Given the description of an element on the screen output the (x, y) to click on. 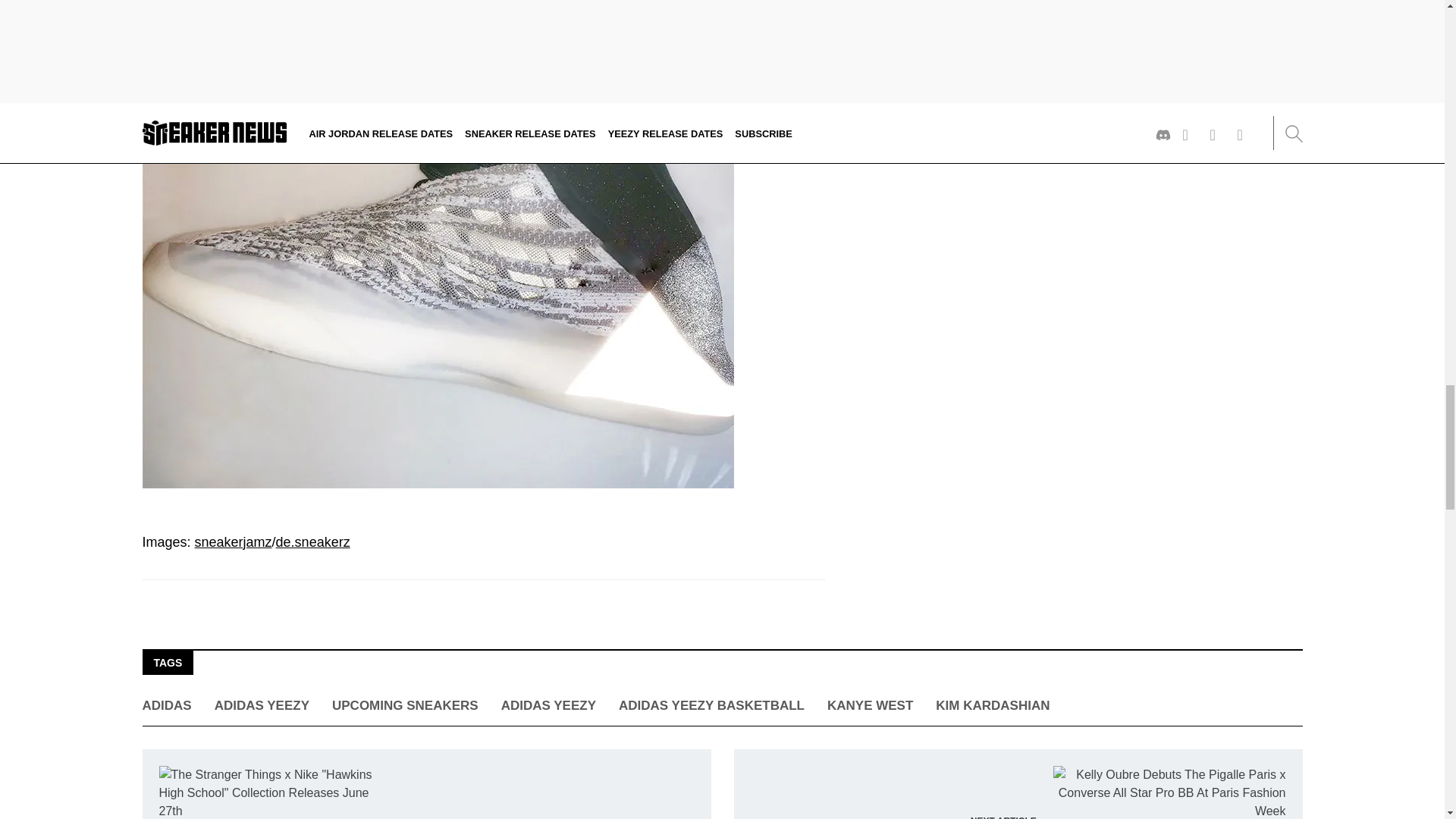
KIM KARDASHIAN (992, 705)
KANYE WEST (869, 705)
sneakerjamz (233, 541)
de.sneakerz (313, 541)
ADIDAS YEEZY (547, 705)
ADIDAS YEEZY (261, 705)
UPCOMING SNEAKERS (405, 705)
ADIDAS (167, 705)
ADIDAS YEEZY BASKETBALL (711, 705)
